Given the description of an element on the screen output the (x, y) to click on. 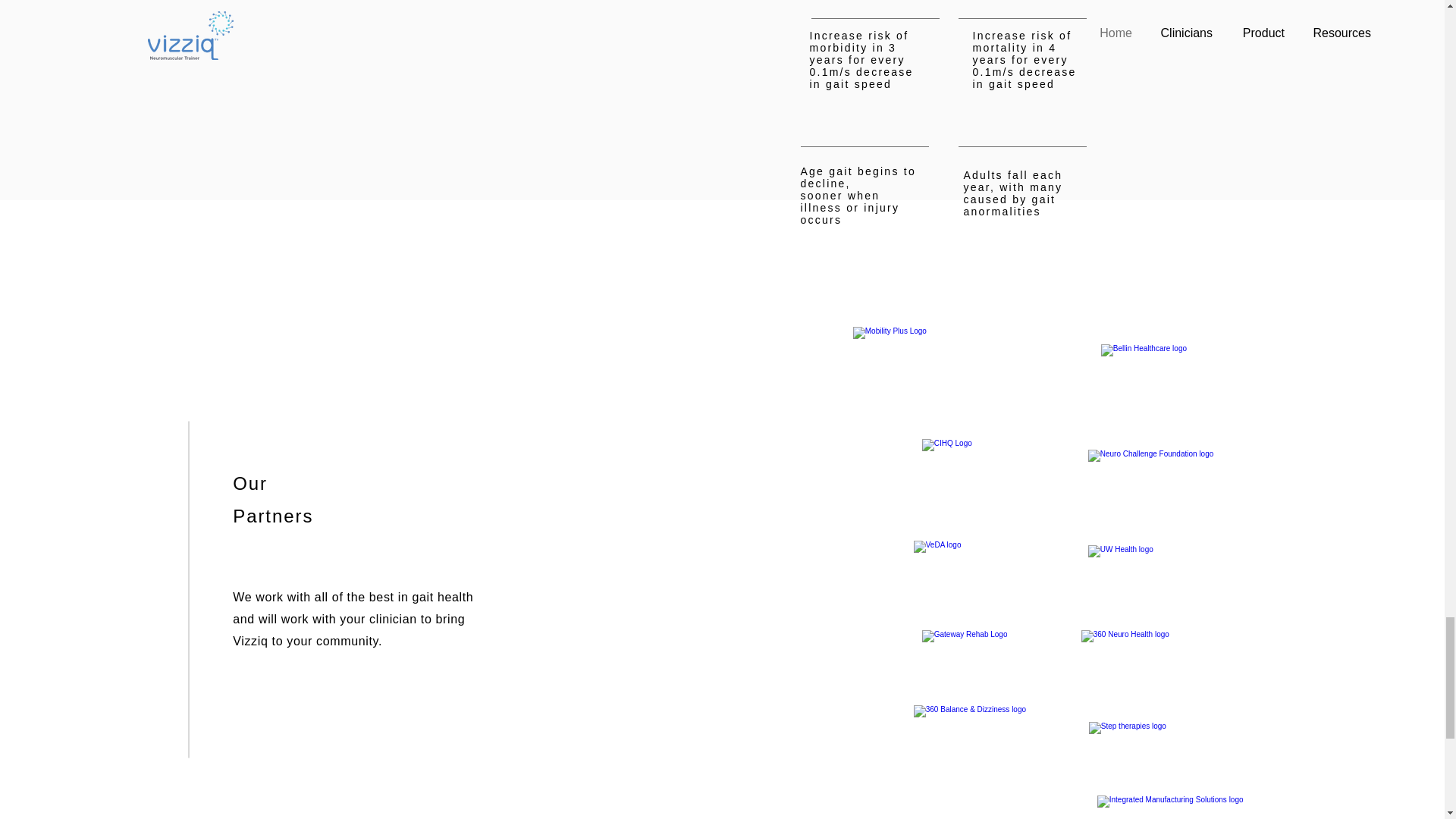
GatewayLogo 3.10.17.jpg (986, 654)
Screenshot 2024-01-23 at 12.39.57 AM.png (1175, 807)
